Given the description of an element on the screen output the (x, y) to click on. 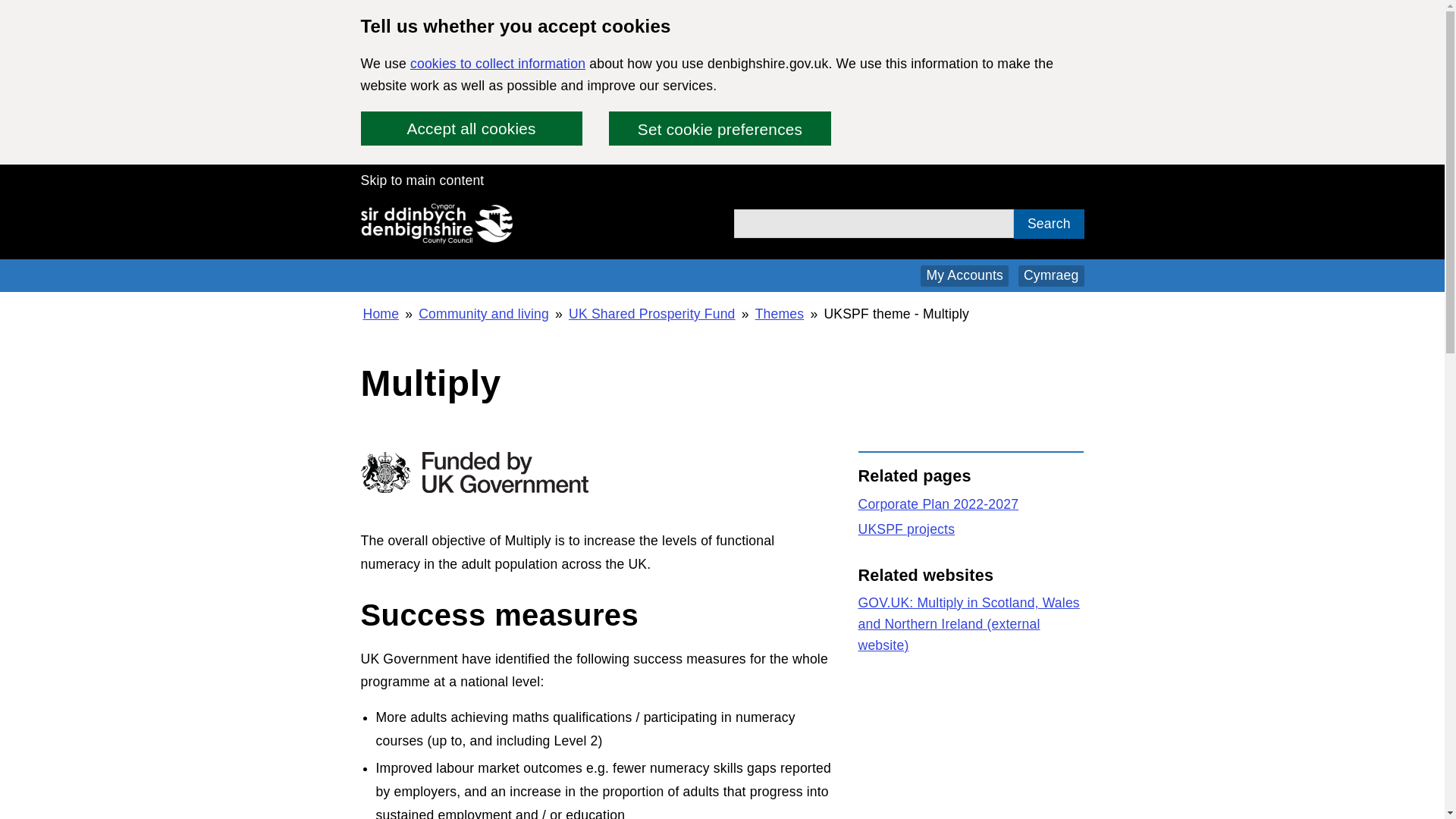
Themes (780, 313)
Home (380, 313)
cookies to collect information (497, 63)
UK Shared Prosperity Fund (652, 313)
Cymraeg (1050, 275)
Community and living (483, 313)
Corporate Plan 2022-2027 (939, 504)
Set cookie preferences (718, 128)
Skip to main content (422, 179)
My Accounts (964, 275)
